Given the description of an element on the screen output the (x, y) to click on. 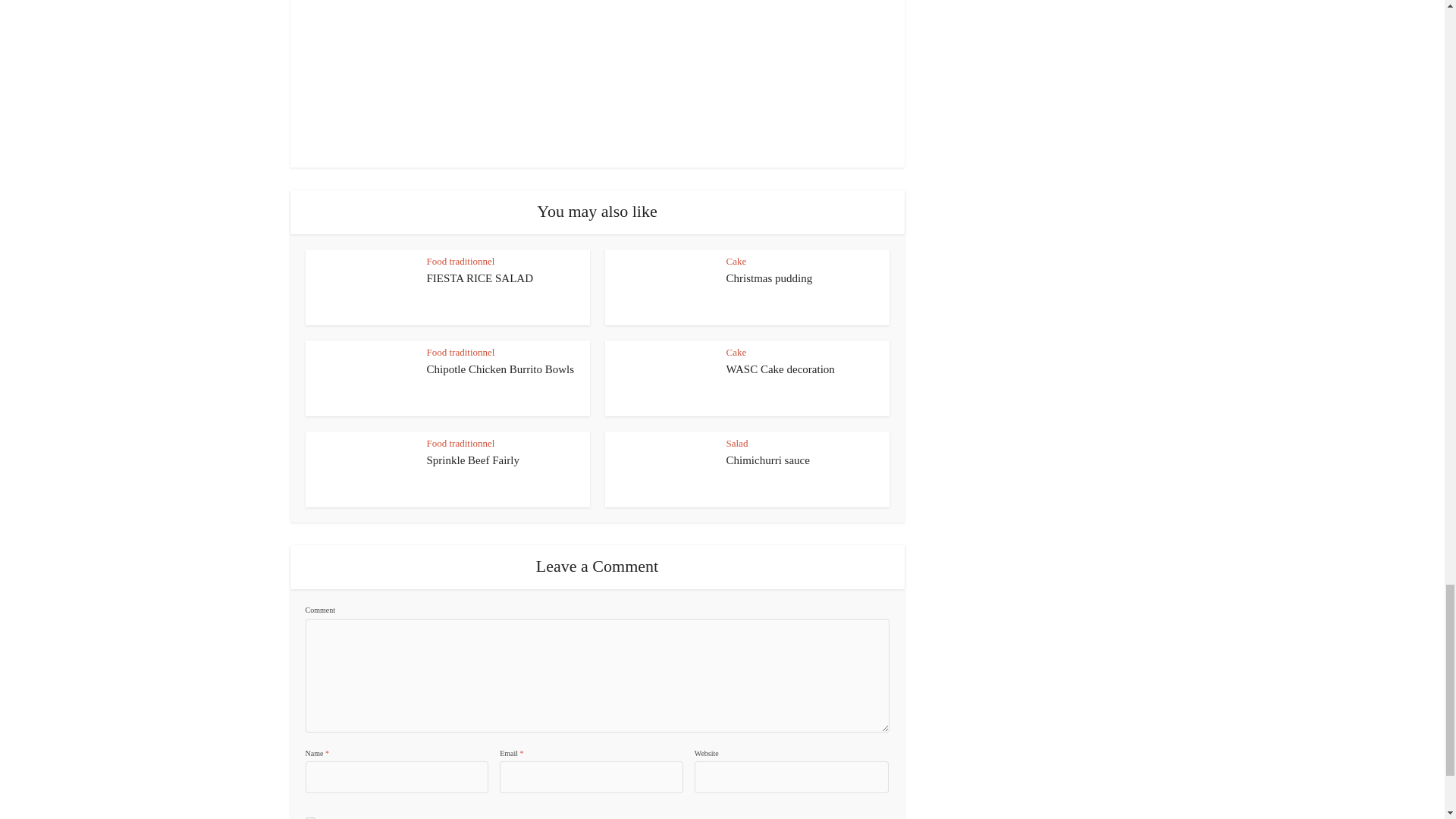
Chipotle Chicken Burrito Bowls (499, 369)
Sprinkle Beef Fairly (472, 460)
Cake (736, 260)
Christmas pudding (769, 277)
Christmas pudding (769, 277)
FIESTA RICE SALAD (479, 277)
FIESTA RICE SALAD (479, 277)
WASC Cake decoration (780, 369)
Chimichurri sauce (767, 460)
